Given the description of an element on the screen output the (x, y) to click on. 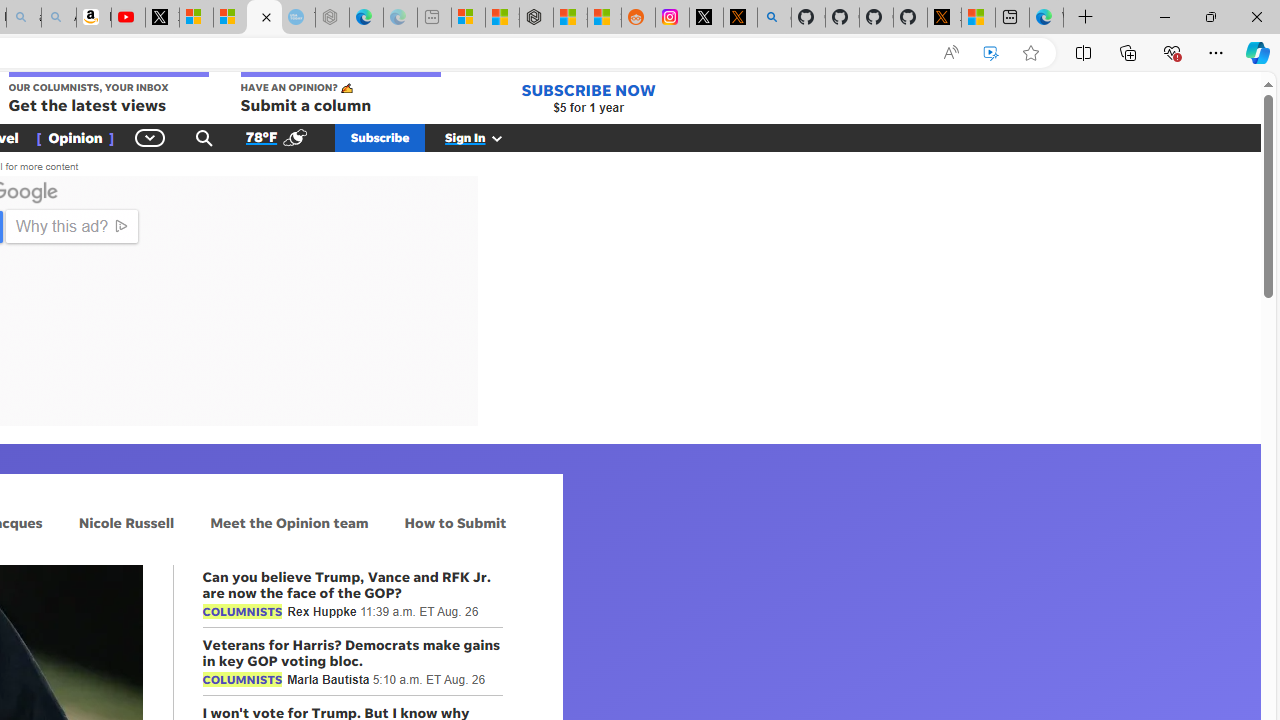
Nicole Russell (125, 521)
Opinion: Op-Ed and Commentary - USA TODAY (264, 17)
Nordace - Nordace has arrived Hong Kong - Sleeping (332, 17)
Class: ns-dqusr-e-25 (438, 386)
